Given the description of an element on the screen output the (x, y) to click on. 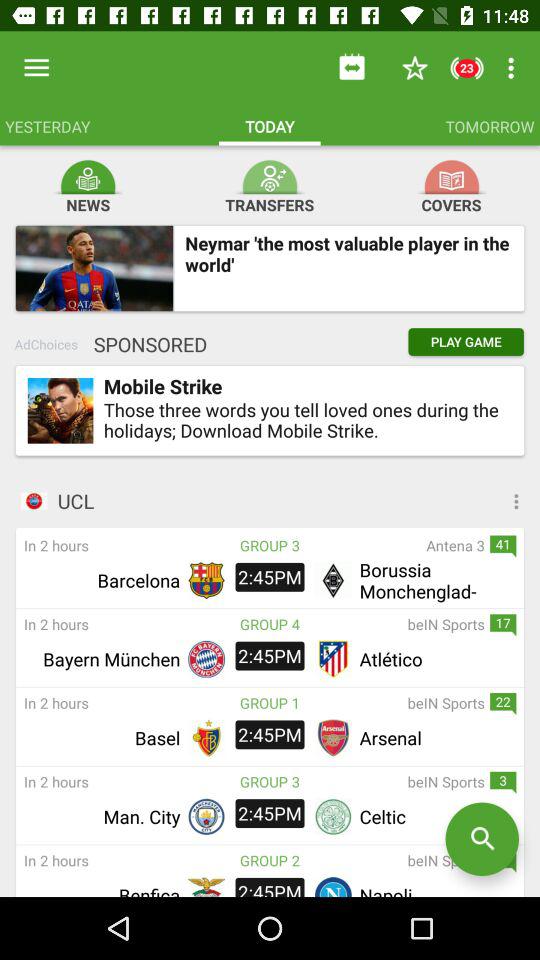
launch the icon to the left of the transfers item (87, 173)
